Given the description of an element on the screen output the (x, y) to click on. 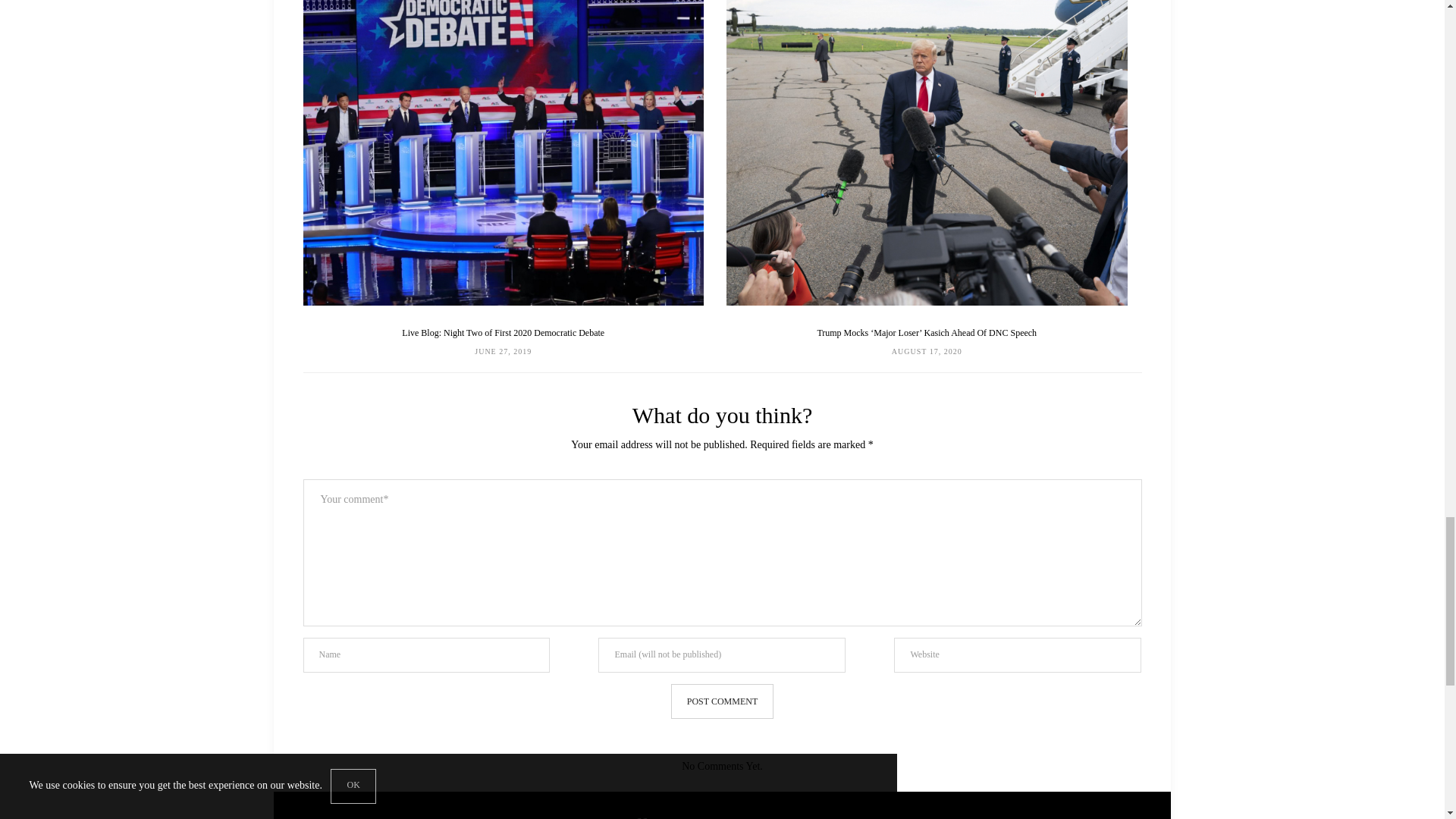
Post comment (722, 701)
